Given the description of an element on the screen output the (x, y) to click on. 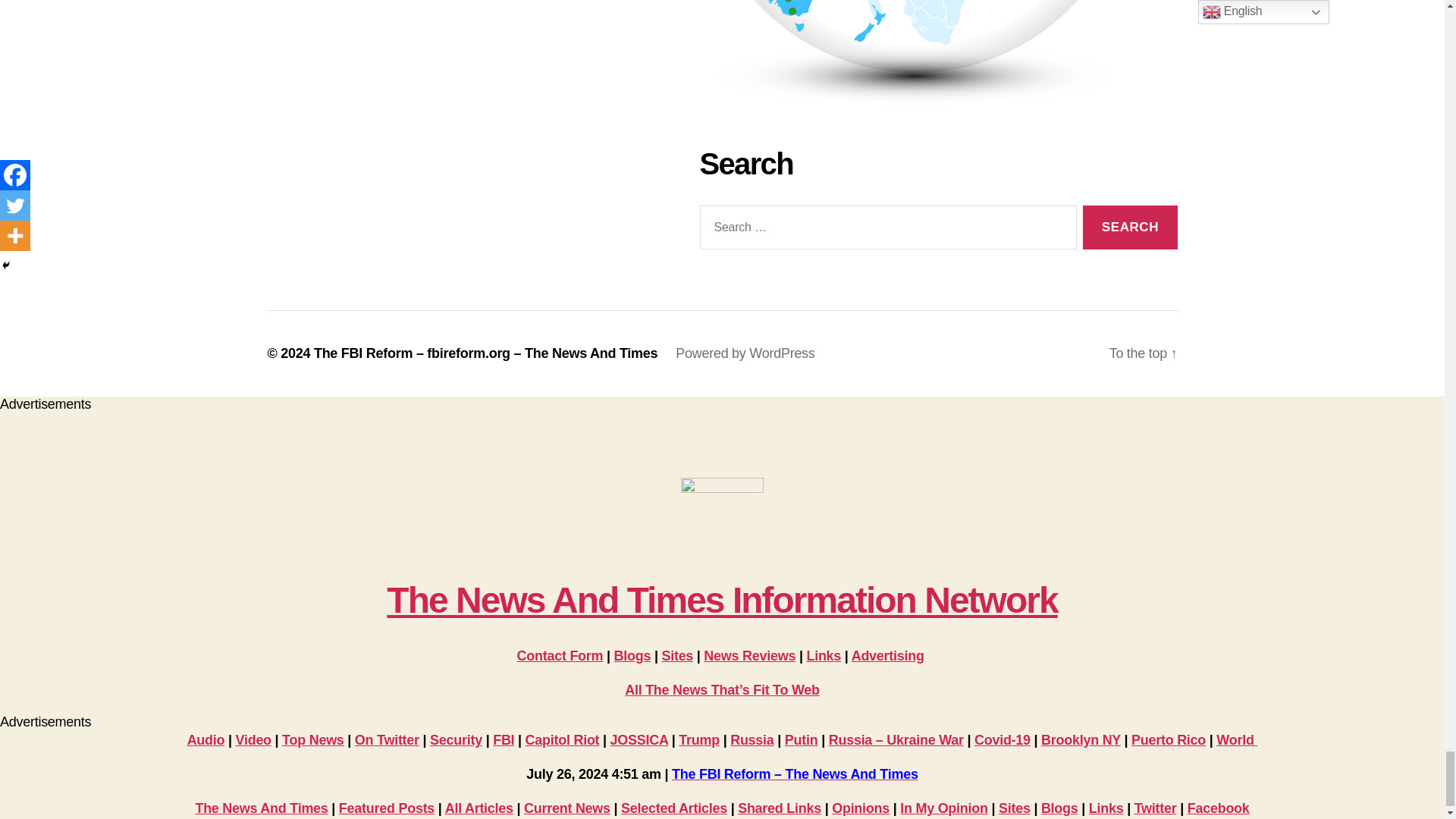
Search (1129, 227)
Search (1129, 227)
